Given the description of an element on the screen output the (x, y) to click on. 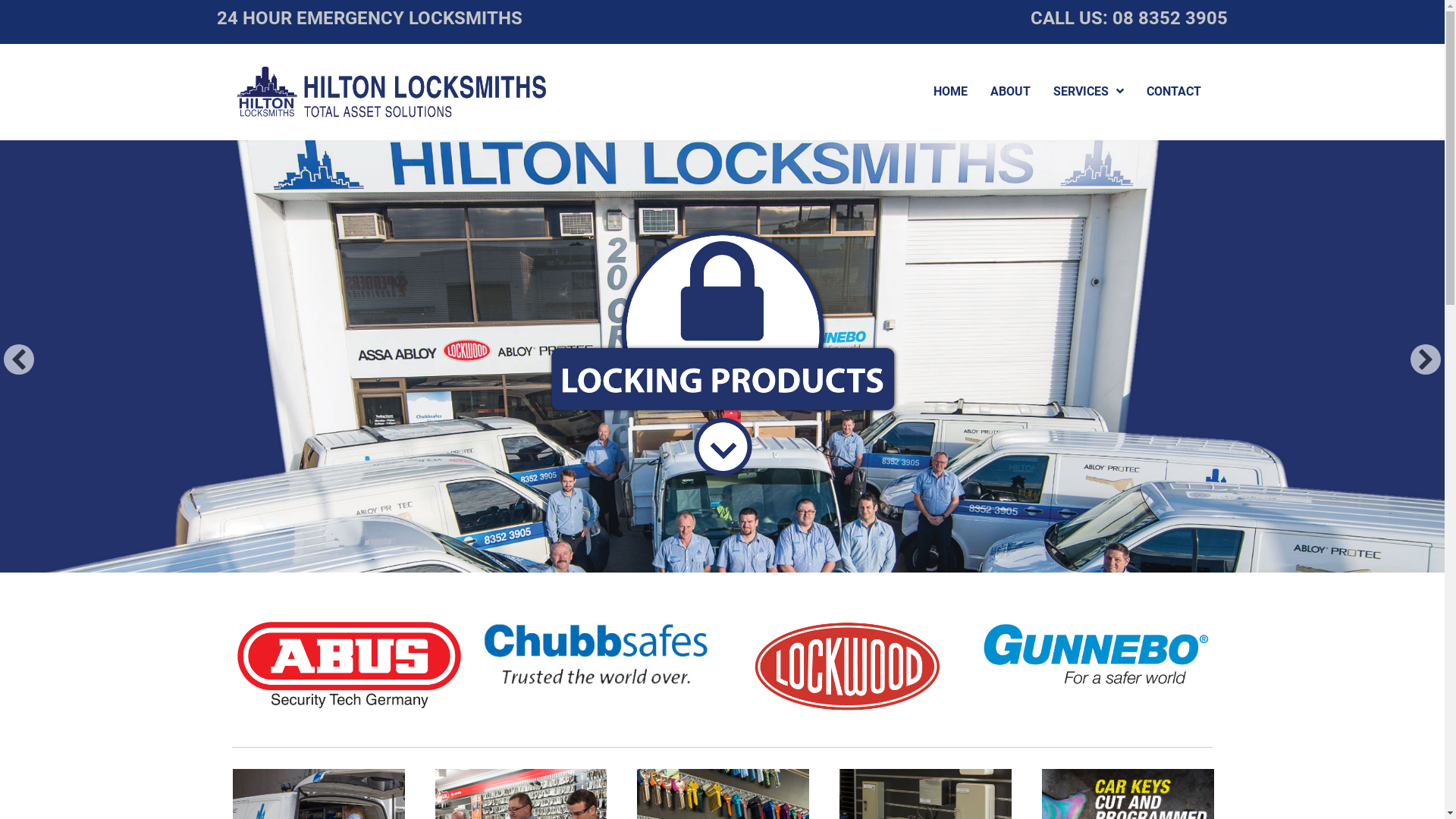
ABOUT Element type: text (1010, 91)
CONTACT Element type: text (1173, 91)
Logo_Gunnebo-0000 Element type: hover (1097, 653)
2000px-ABUS_Logo Element type: hover (349, 664)
HOME Element type: text (950, 91)
SERVICES Element type: text (1088, 91)
Lockwood-Logo2 Element type: hover (848, 666)
hilton-dark-blue-l Element type: hover (393, 91)
Chubb_Safes_logo Element type: hover (598, 653)
